Given the description of an element on the screen output the (x, y) to click on. 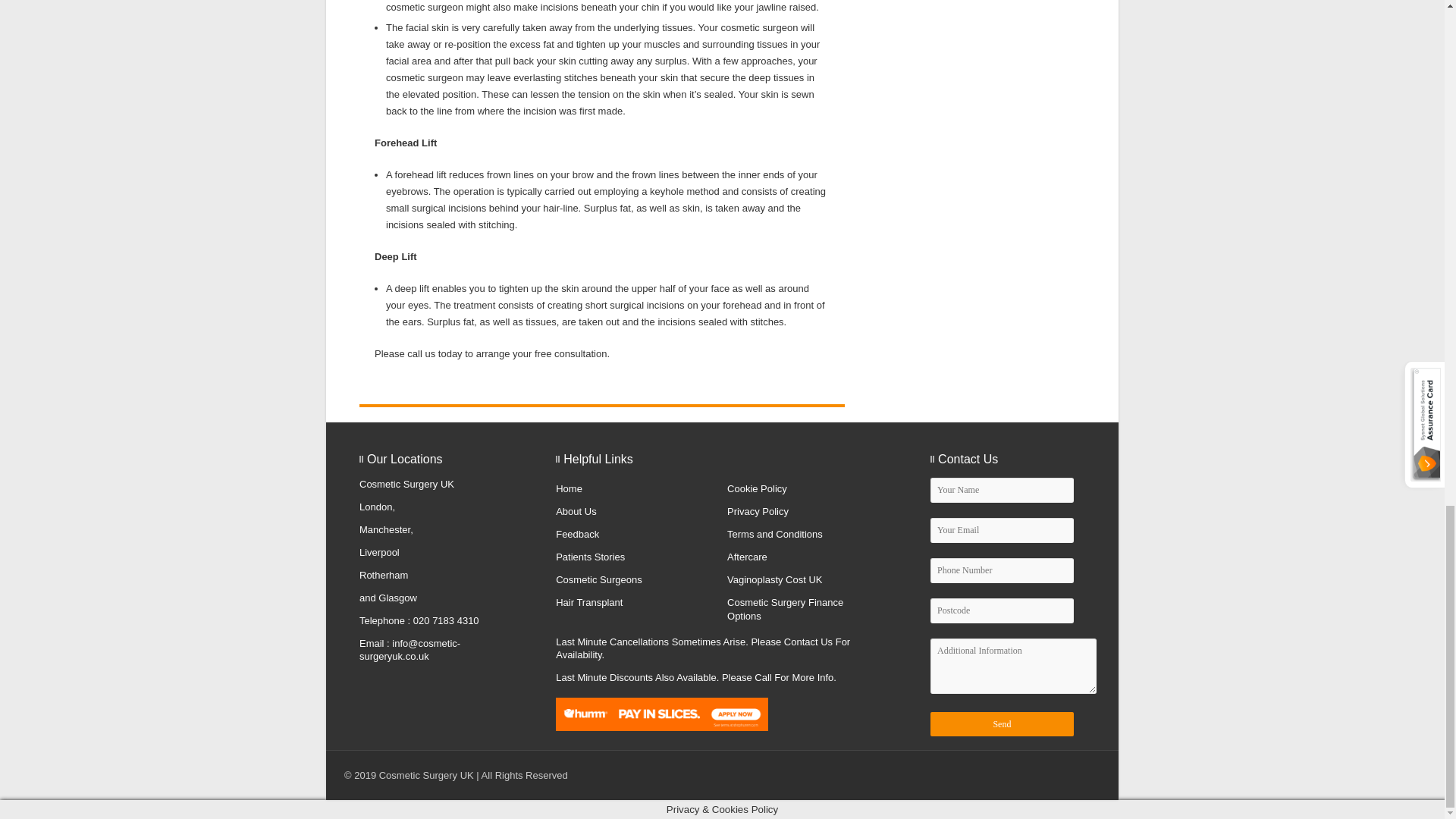
Send (1002, 723)
Home (569, 488)
About Us (575, 511)
